Given the description of an element on the screen output the (x, y) to click on. 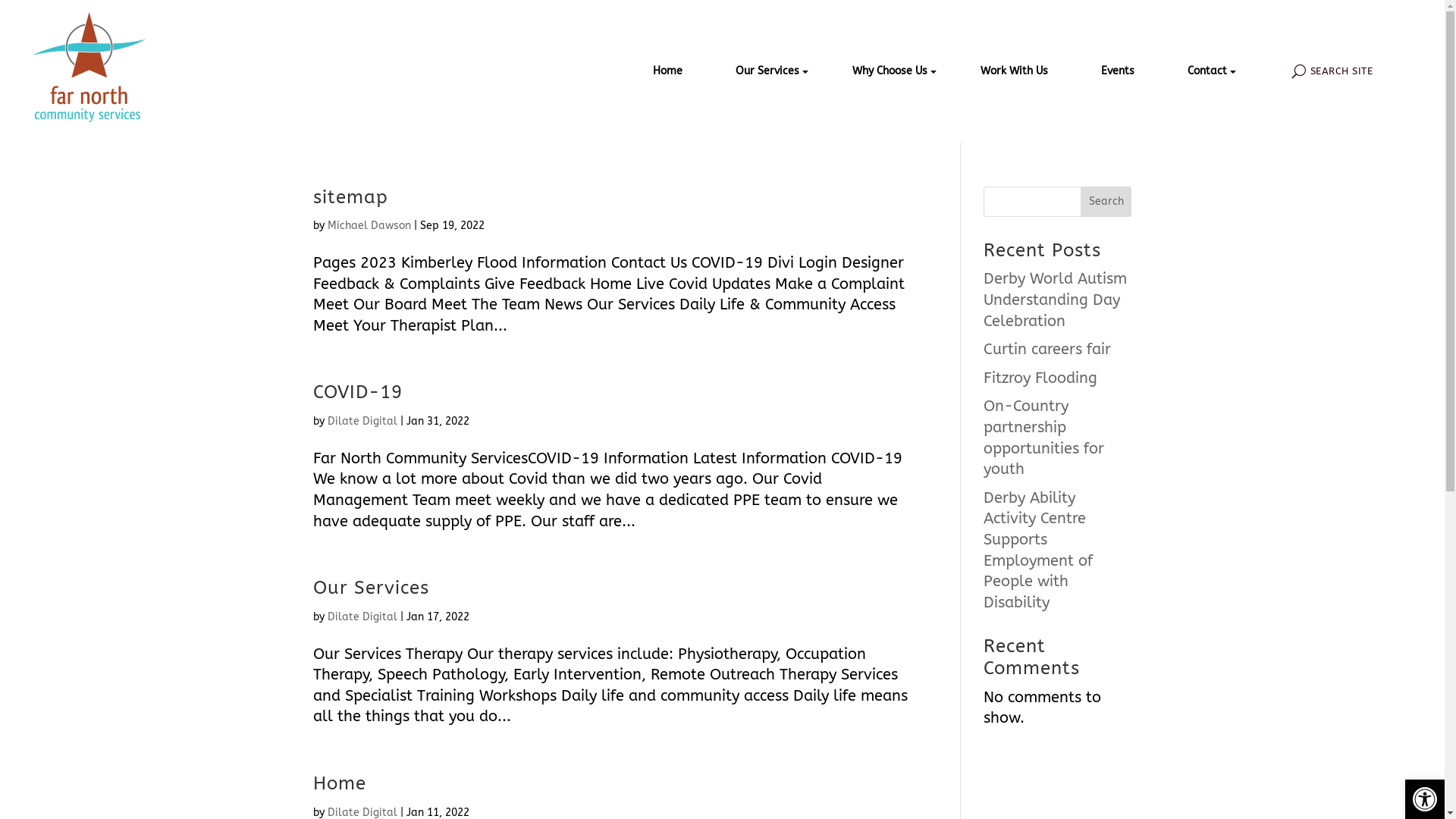
COVID-19 Element type: text (356, 391)
Contact Element type: text (1206, 69)
Work With Us Element type: text (1013, 69)
Dilate Digital Element type: text (362, 616)
Michael Dawson Element type: text (369, 225)
Home Element type: text (338, 782)
Dilate Digital Element type: text (362, 420)
Derby World Autism Understanding Day Celebration Element type: text (1054, 299)
On-Country partnership opportunities for youth Element type: text (1043, 437)
Events Element type: text (1117, 69)
Why Choose Us Element type: text (889, 69)
Home Element type: text (666, 69)
sitemap Element type: text (349, 196)
Search Element type: text (1106, 201)
Fitzroy Flooding Element type: text (1040, 377)
Our Services Element type: text (370, 587)
Our Services Element type: text (767, 69)
Curtin careers fair Element type: text (1046, 348)
